Given the description of an element on the screen output the (x, y) to click on. 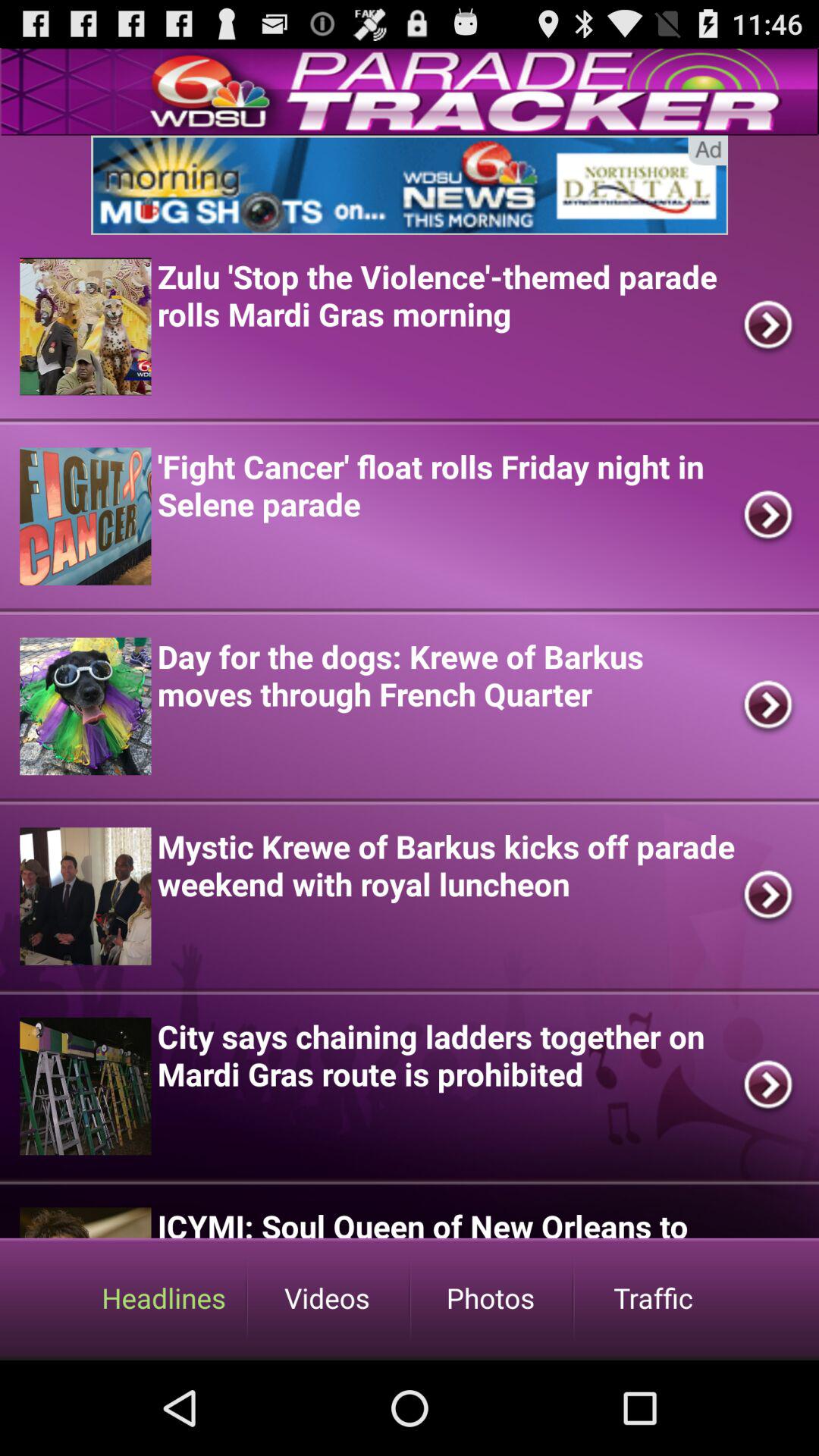
click on headlines option (164, 1297)
click on the image beside city says chaining ladders together on mardi gras route is prohibited (85, 1085)
select the fourth arrow mark (769, 895)
select photos at the bottom of the page (490, 1297)
